Given the description of an element on the screen output the (x, y) to click on. 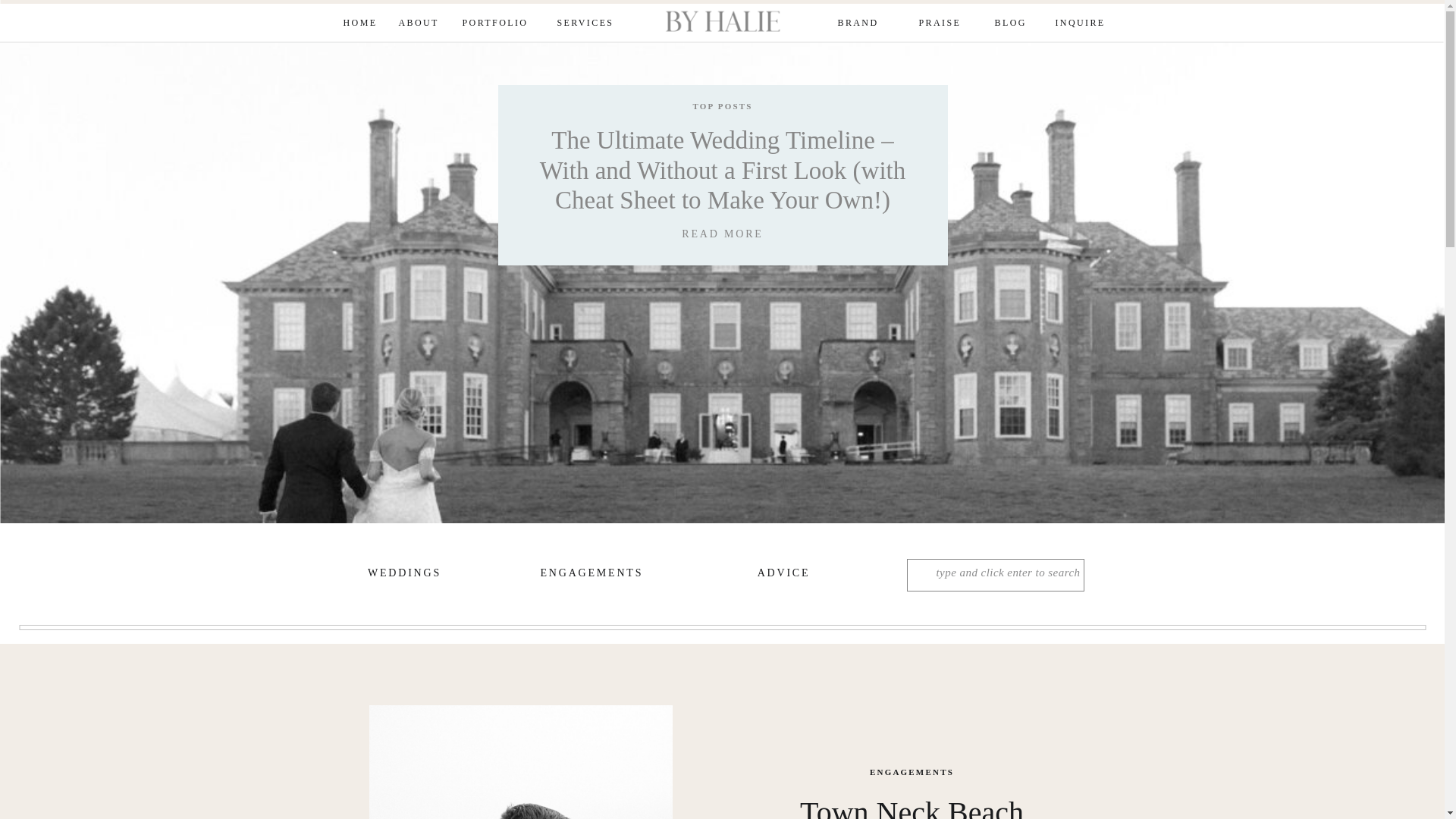
BRAND (858, 24)
ENGAGEMENTS (911, 771)
INQUIRE (1079, 24)
READ MORE (721, 234)
SERVICES (585, 24)
ABOUT (418, 24)
ENGAGEMENTS (585, 575)
BLOG (1010, 24)
HOME (358, 24)
Town Neck Beach Engagement Session (911, 807)
ADVICE (782, 575)
WEDDINGS (403, 575)
Town Neck Beach Engagement Session (519, 762)
PORTFOLIO (494, 24)
PRAISE (938, 24)
